Given the description of an element on the screen output the (x, y) to click on. 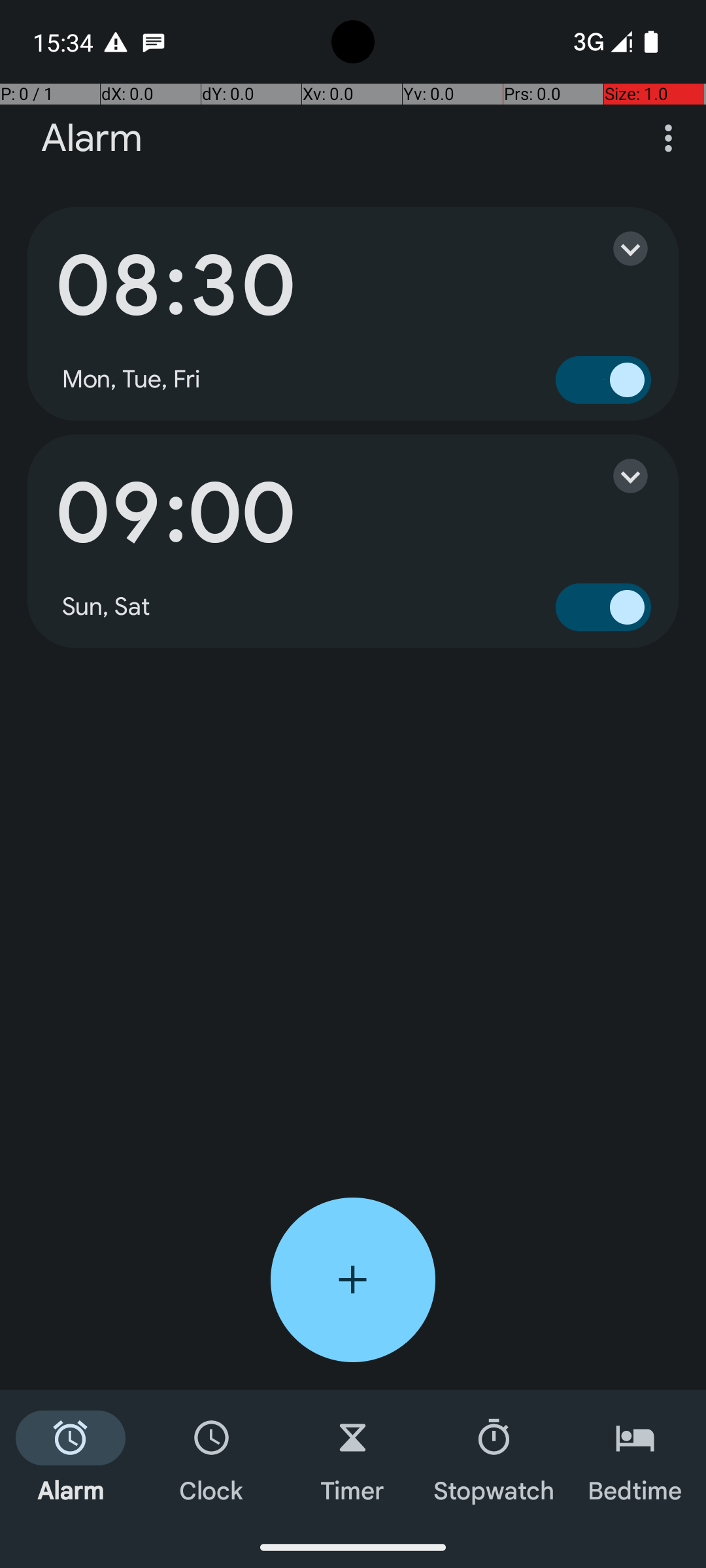
Add alarm Element type: android.widget.Button (352, 1279)
08:30 Element type: android.widget.TextView (174, 286)
Expand alarm Element type: android.widget.ImageButton (616, 248)
Mon, Tue, Fri Element type: android.widget.TextView (130, 379)
09:00 Element type: android.widget.TextView (174, 513)
Sun, Sat Element type: android.widget.TextView (106, 606)
